Given the description of an element on the screen output the (x, y) to click on. 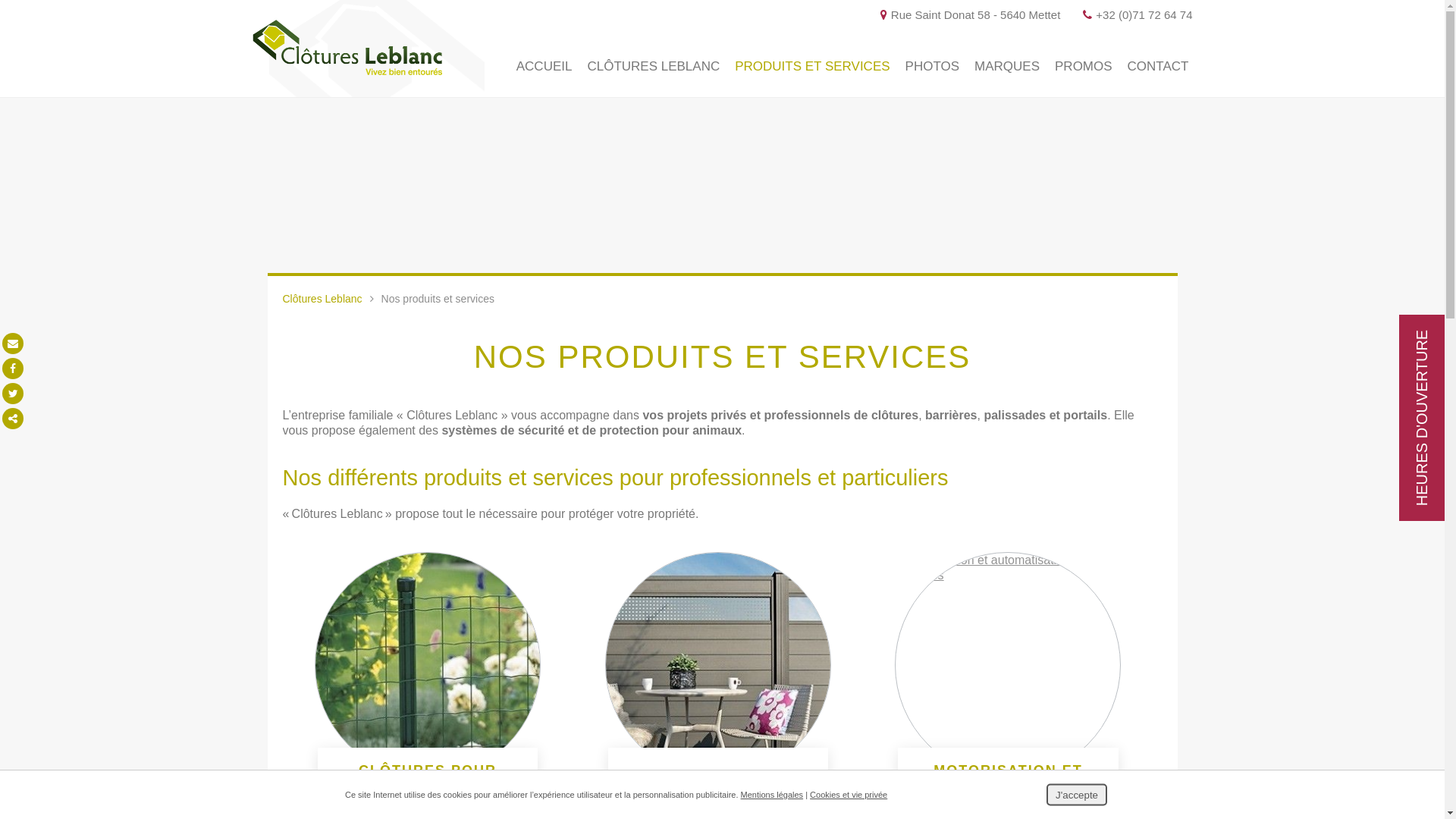
PALISSADES Element type: text (717, 776)
PHOTOS Element type: text (932, 66)
CONTACT Element type: text (1157, 66)
MARQUES Element type: text (1006, 66)
PRODUITS ET SERVICES Element type: text (812, 66)
Palissades Element type: hover (717, 665)
Rue Saint Donat 58 - 5640 Mettet+32 (0)71 72 64 74 Element type: text (1036, 14)
PROMOS Element type: text (1083, 66)
Partager ce contenu Element type: text (12, 418)
ACCUEIL Element type: text (544, 66)
